Given the description of an element on the screen output the (x, y) to click on. 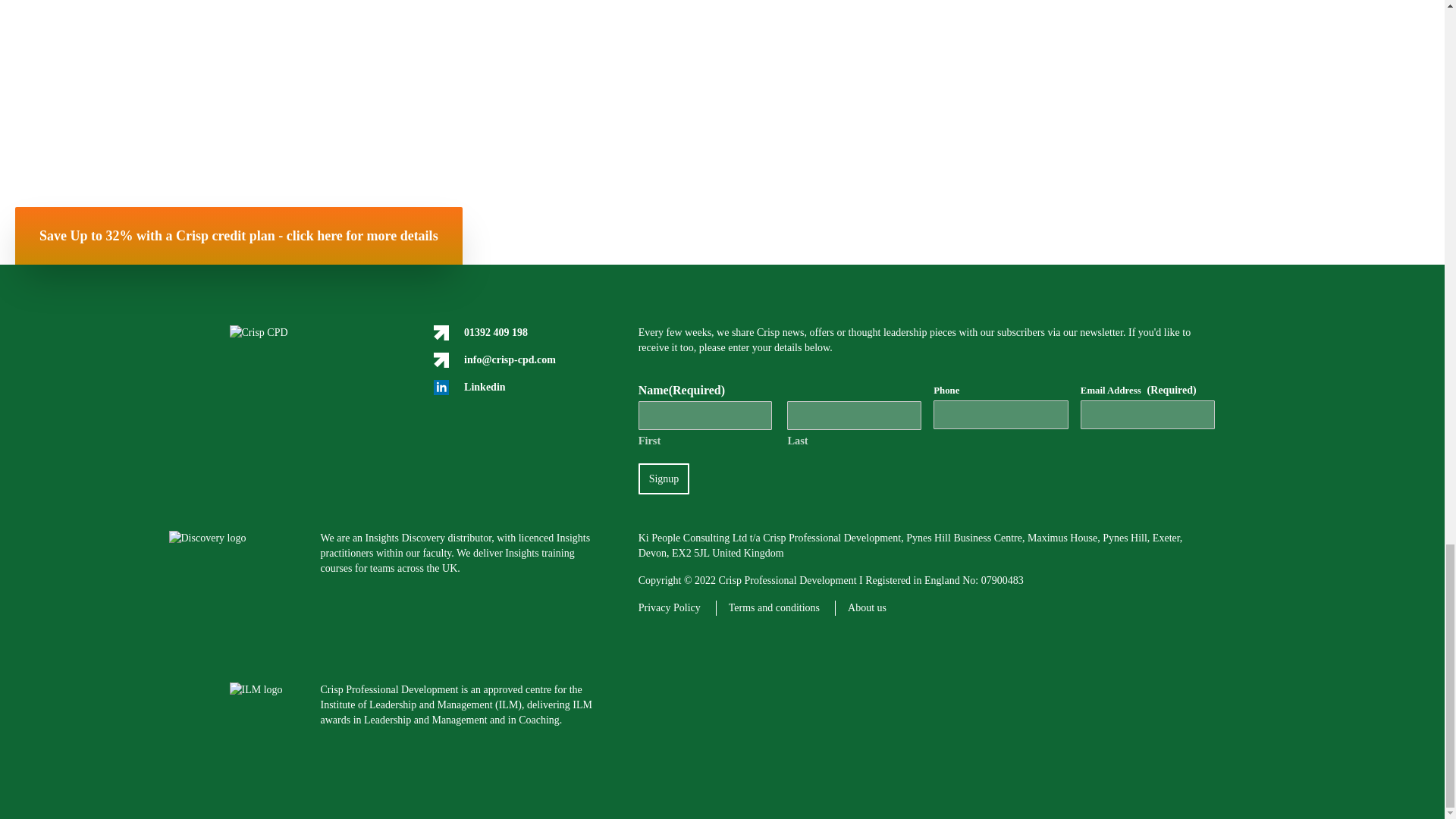
Signup (664, 478)
